Given the description of an element on the screen output the (x, y) to click on. 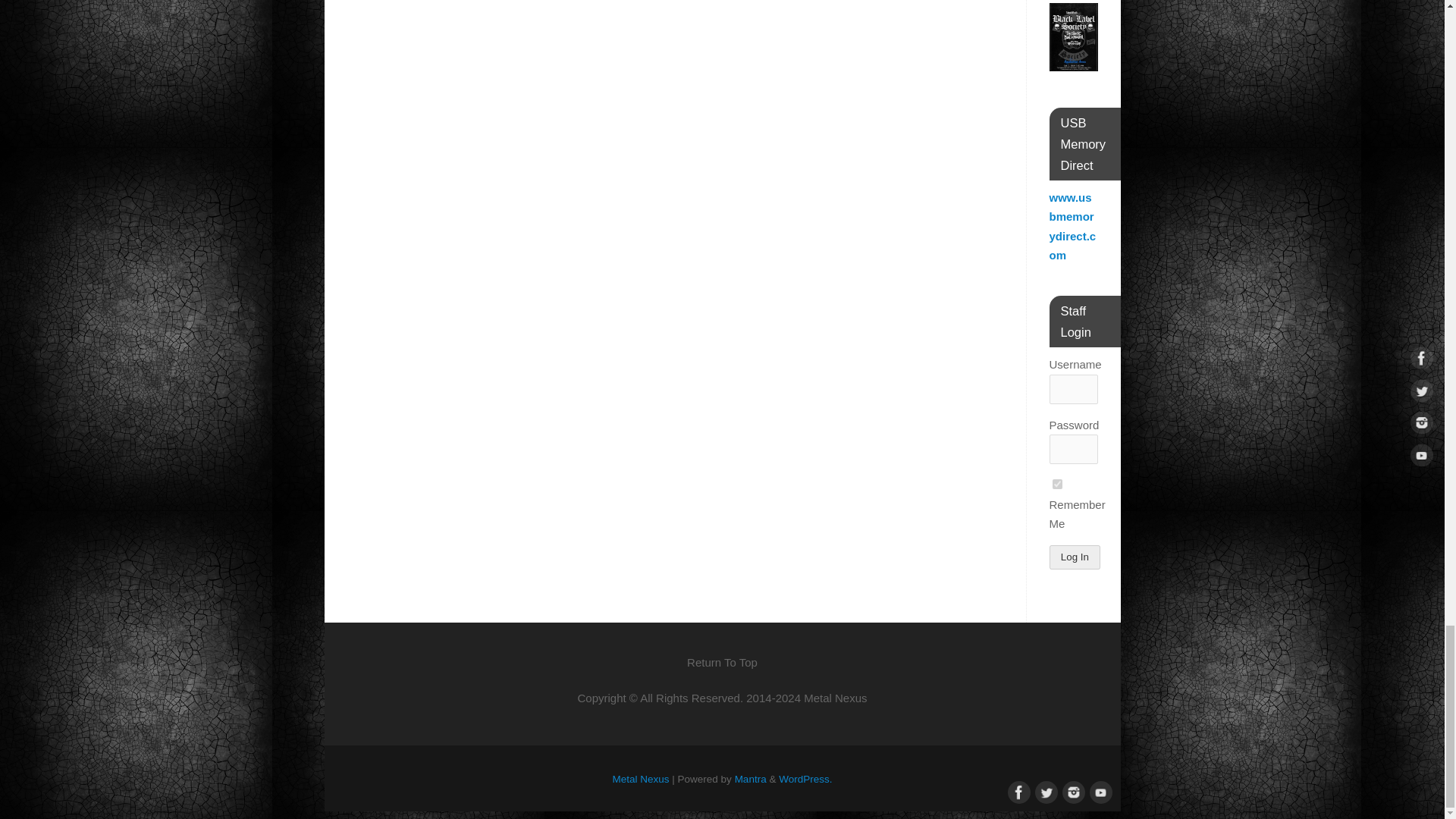
Twitter (1043, 790)
Semantic Personal Publishing Platform (804, 778)
Metal Nexus (640, 778)
Facebook (1016, 790)
Instagram (1071, 790)
Mantra Theme by Cryout Creations (751, 778)
Log In (1074, 557)
forever (1057, 483)
